Given the description of an element on the screen output the (x, y) to click on. 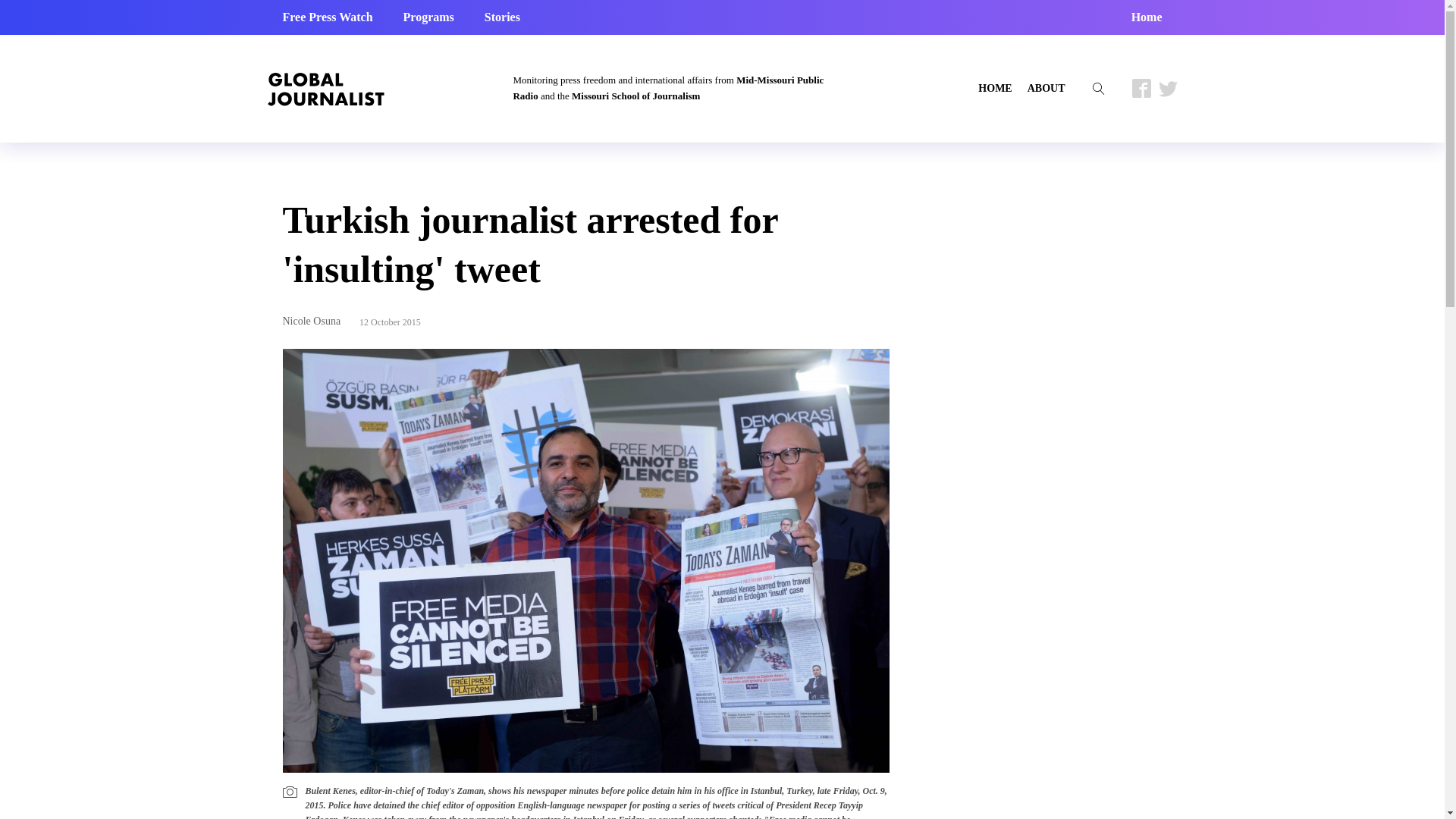
ABOUT (1046, 88)
Nicole Osuna (311, 320)
HOME (995, 88)
Stories (501, 17)
Search (25, 9)
Programs (428, 17)
Free Press Watch (327, 17)
Home (1146, 17)
